Given the description of an element on the screen output the (x, y) to click on. 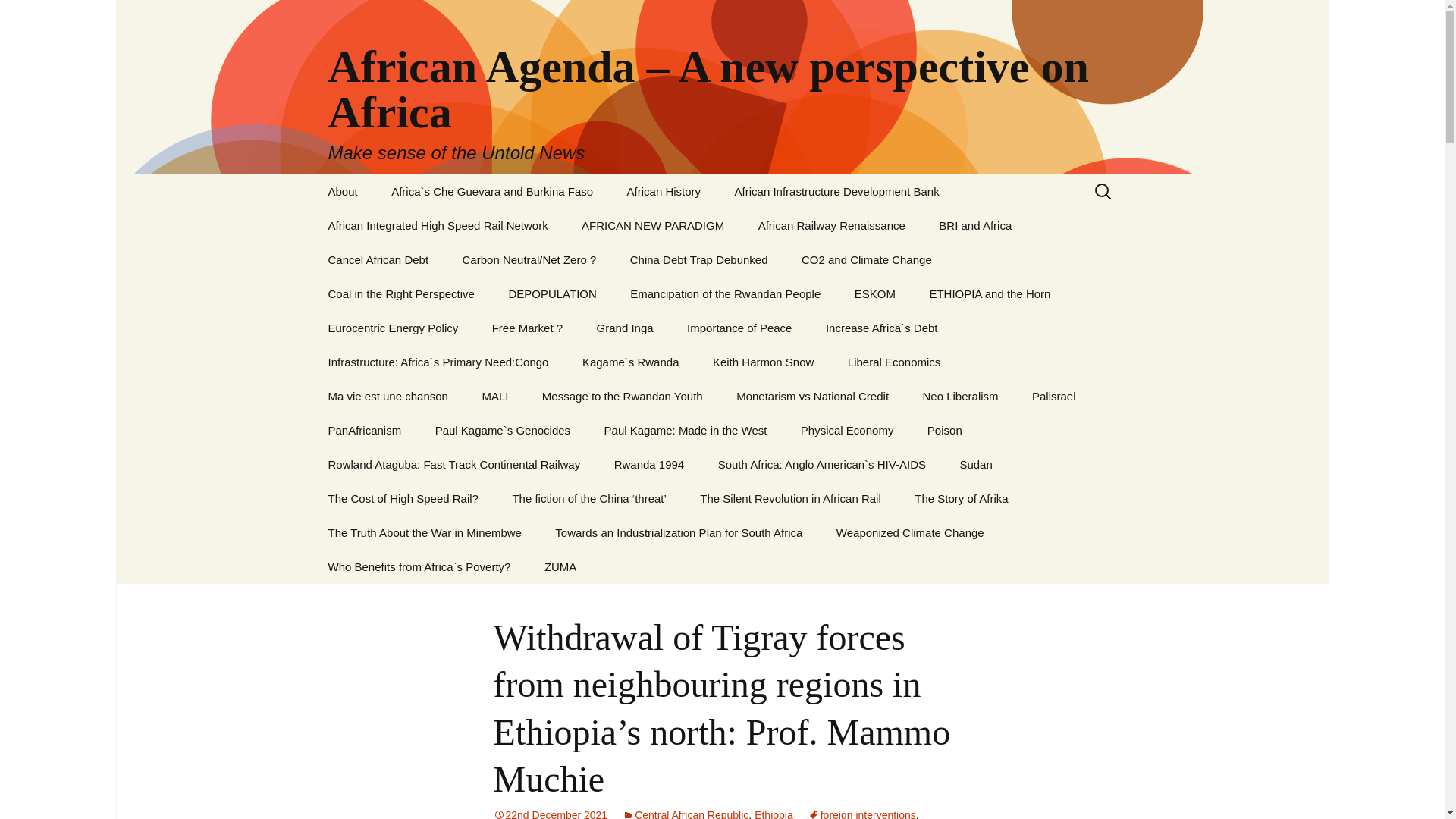
Physical Economy (847, 430)
Paul Kagame: Made in the West (686, 430)
CO2 and Climate Change (866, 259)
MALI (493, 396)
African History (663, 191)
Emancipation of the Rwandan People (724, 293)
Importance of Peace (738, 327)
African Integrated High Speed Rail Network (437, 225)
Coal in the Right Perspective (401, 293)
DEPOPULATION (552, 293)
About (342, 191)
Liberal Economics (894, 361)
Monetarism vs National Credit (812, 396)
Free Market ? (527, 327)
China Debt Trap Debunked (698, 259)
